Given the description of an element on the screen output the (x, y) to click on. 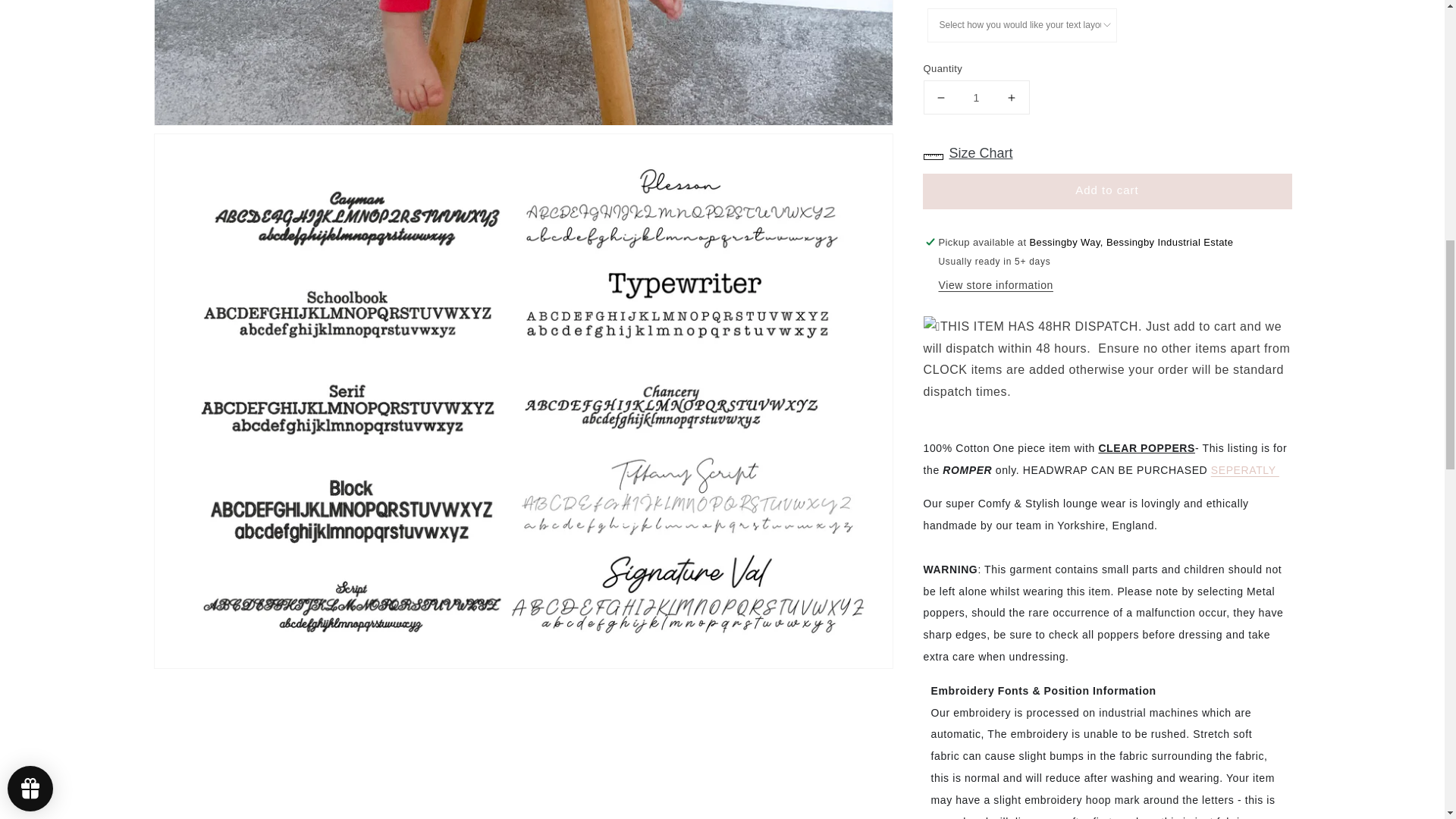
1 (976, 85)
